Given the description of an element on the screen output the (x, y) to click on. 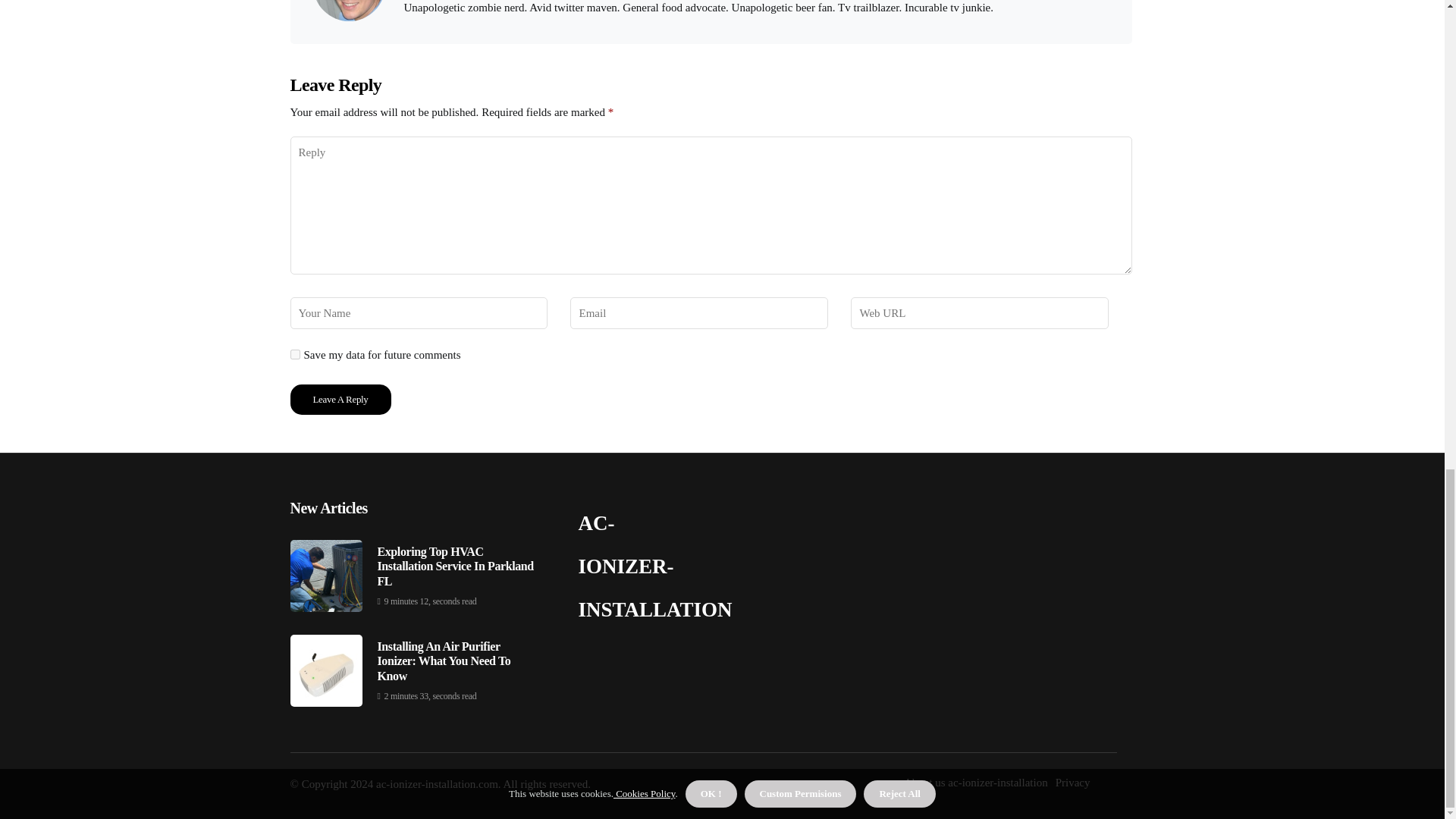
yes (294, 354)
Leave a Reply (339, 399)
Leave a Reply (339, 399)
